Given the description of an element on the screen output the (x, y) to click on. 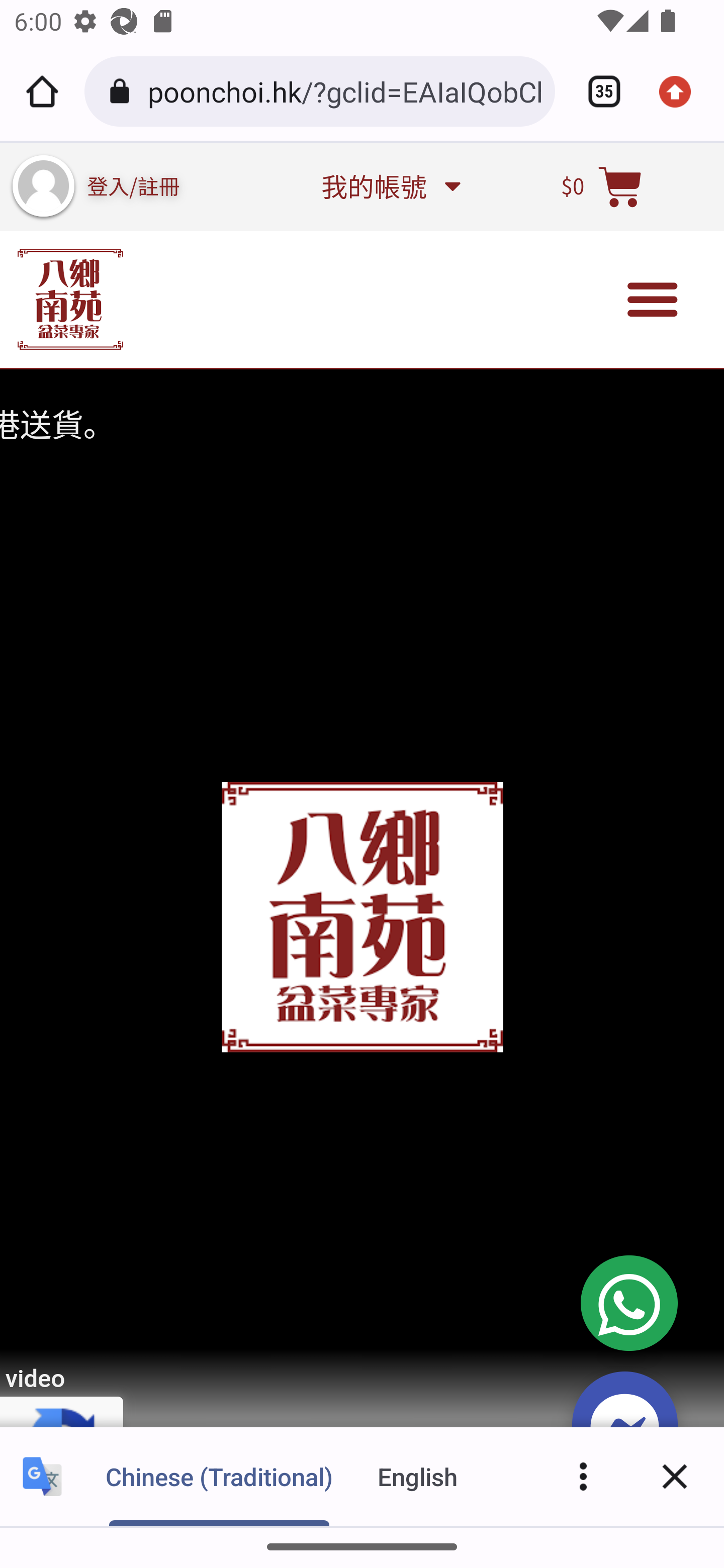
Home (42, 91)
Connection is secure (122, 91)
Switch or close tabs (597, 91)
Update available. More options (681, 91)
$0  購物籃 $ 0  (601, 186)
我的帳號  我的帳號  (390, 185)
my-account (43, 186)
登入/註冊 (133, 185)
www.poonchoi (70, 299)
選單切換 (652, 299)
English (417, 1475)
More options (582, 1475)
Close (674, 1475)
